Given the description of an element on the screen output the (x, y) to click on. 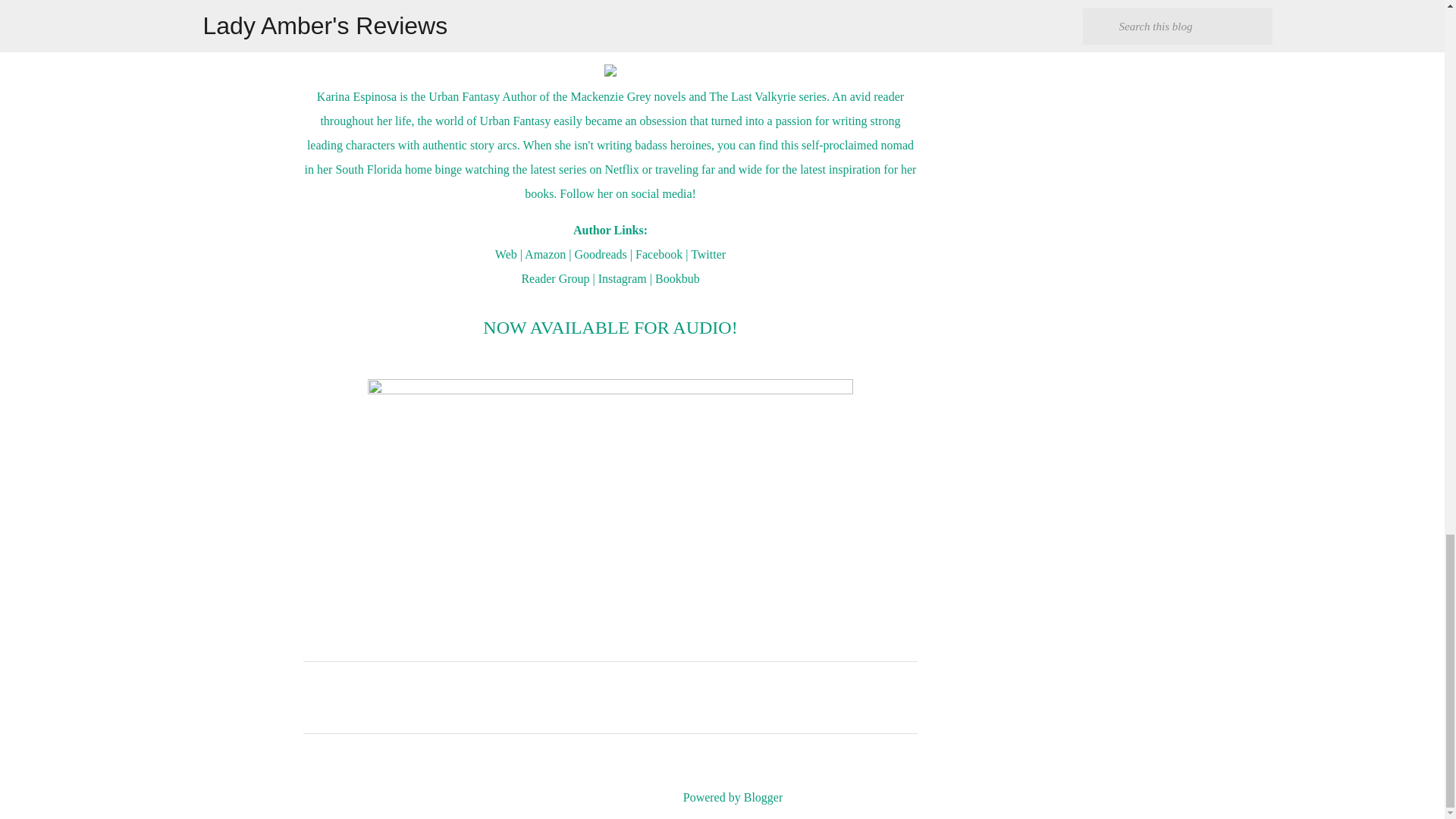
Bookbub (677, 278)
Web (505, 254)
Goodreads (601, 254)
Amazon (545, 254)
NOW AVAILABLE FOR AUDIO! (609, 328)
Instagram (622, 278)
Reader Group (555, 278)
Twitter (707, 254)
Facebook (658, 254)
